Given the description of an element on the screen output the (x, y) to click on. 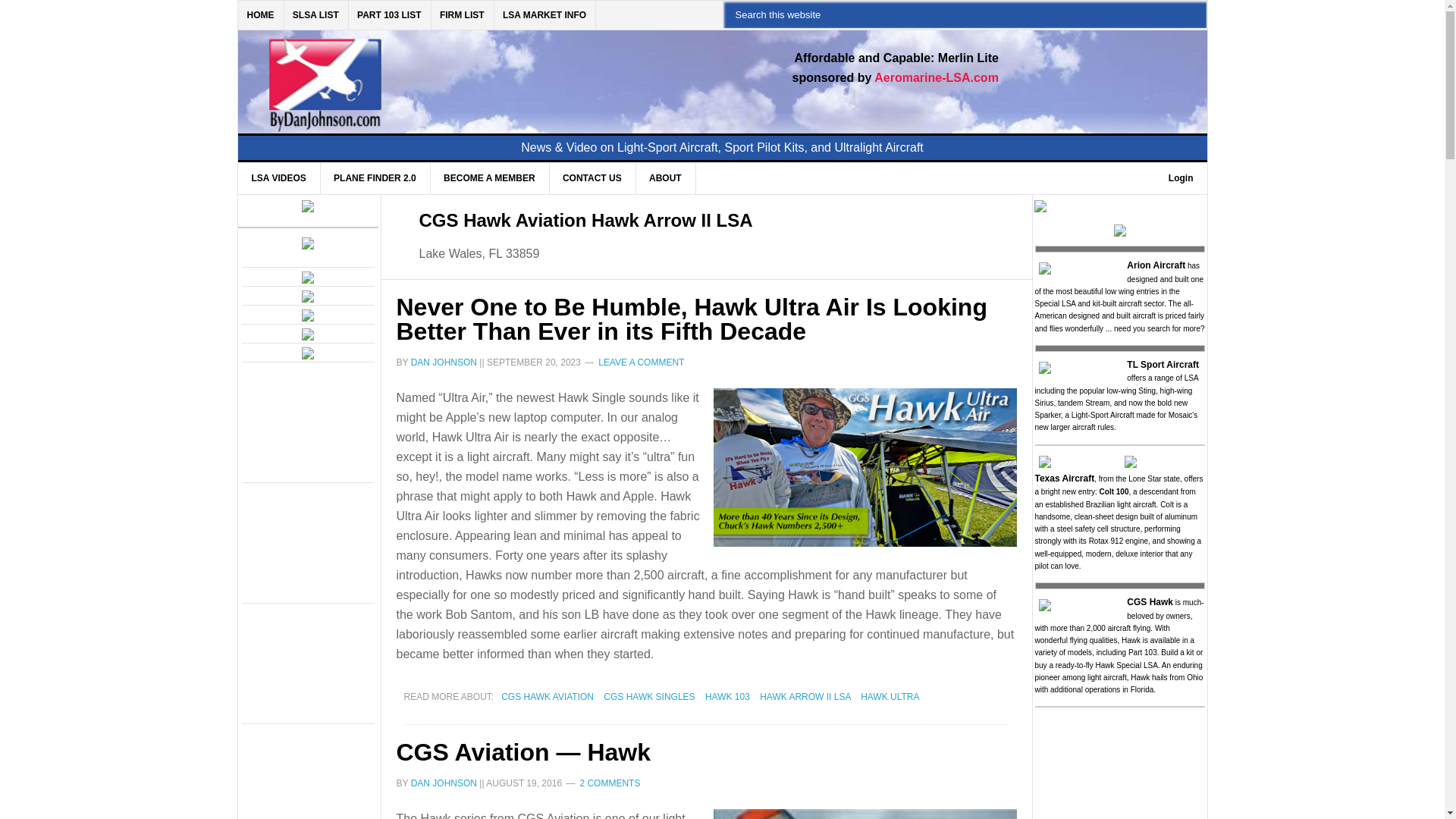
BYDANJOHNSON.COM (469, 73)
FIRM LIST (462, 14)
HOME (260, 14)
HAWK ULTRA (889, 696)
DAN JOHNSON (443, 362)
CONTACT US (592, 178)
PLANE FINDER 2.0 (375, 178)
LSA MARKET INFO (544, 14)
LEAVE A COMMENT (641, 362)
CGS HAWK AVIATION (547, 696)
